Given the description of an element on the screen output the (x, y) to click on. 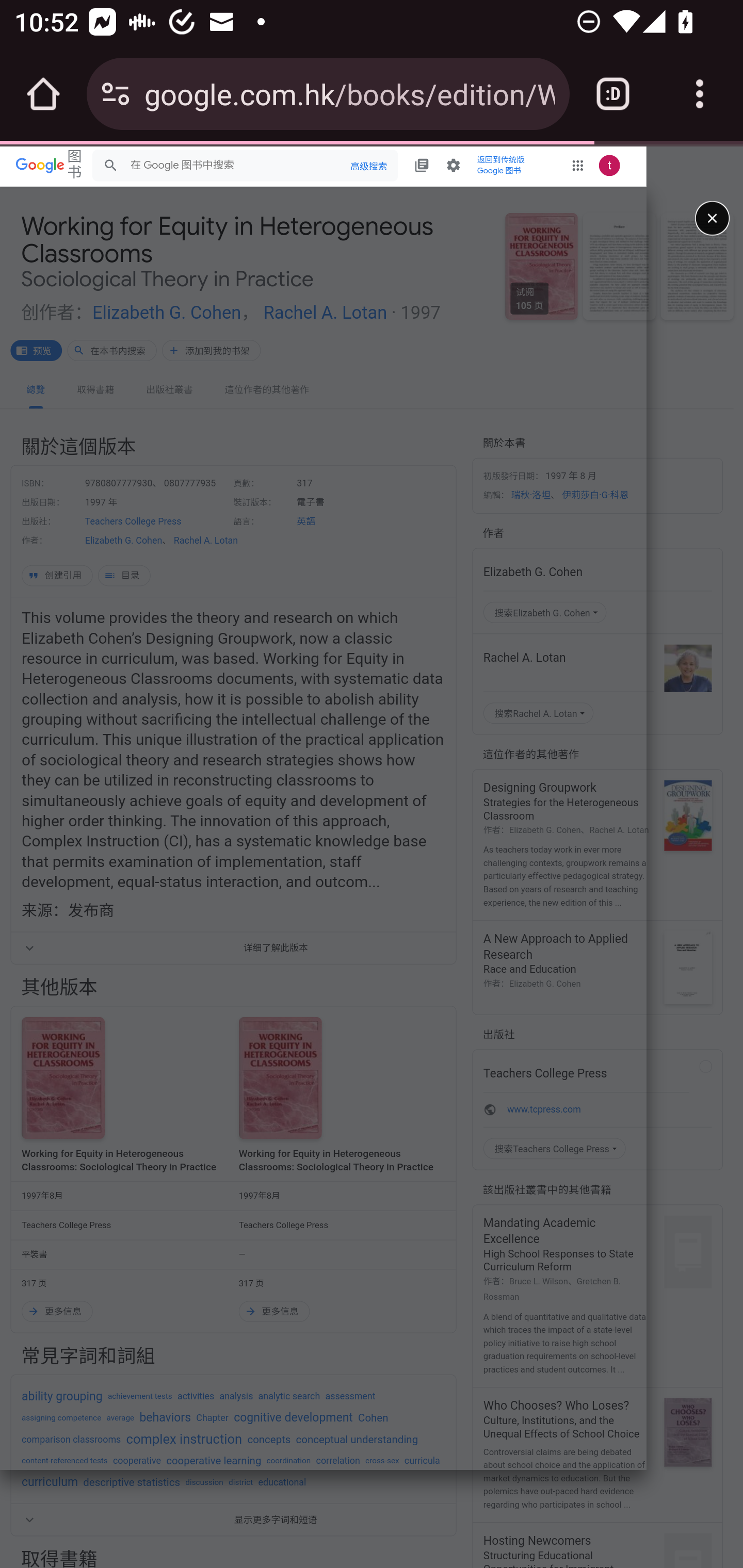
Open the home page (43, 93)
Connection is secure (115, 93)
Switch or close tabs (612, 93)
Customize and control Google Chrome (699, 93)
关闭preview对话框 (712, 217)
